Given the description of an element on the screen output the (x, y) to click on. 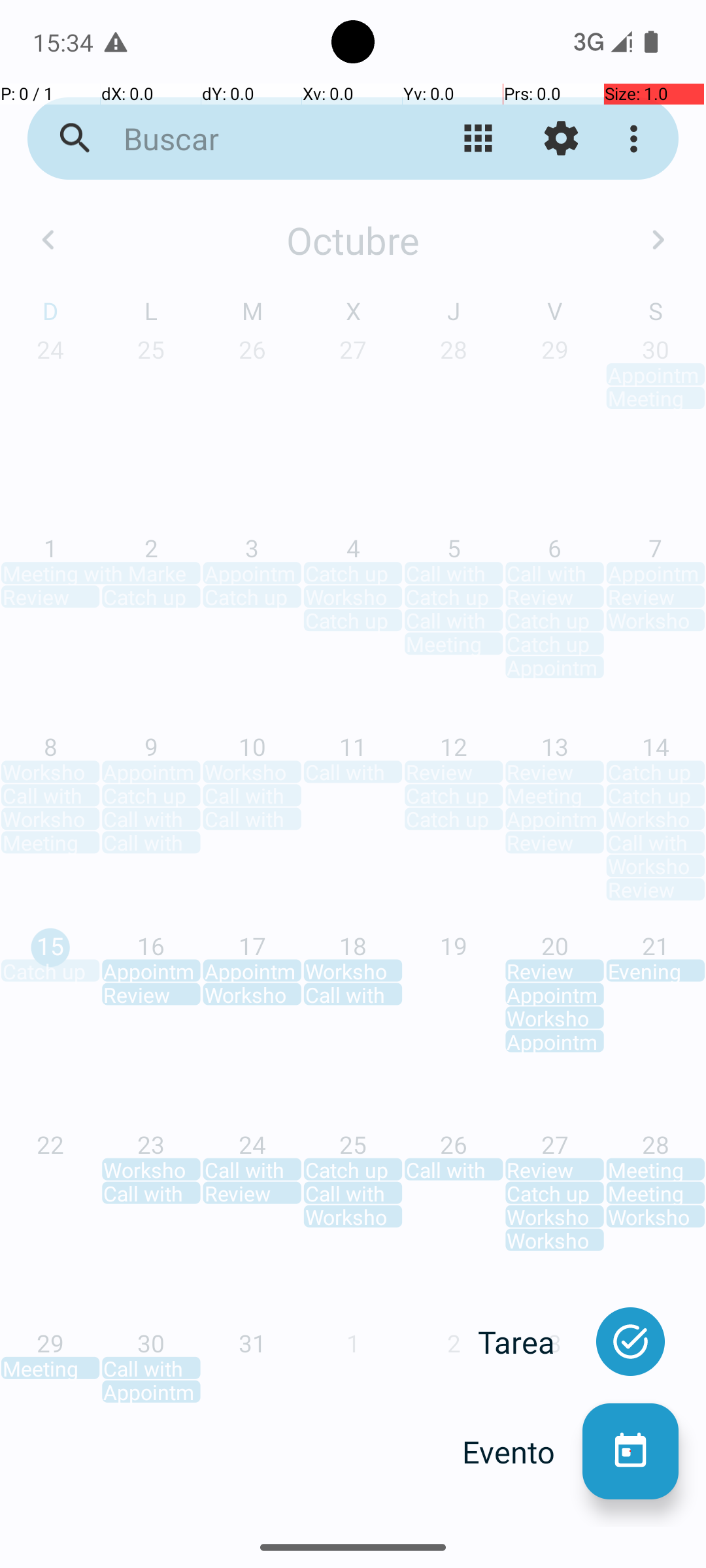
Tarea Element type: android.widget.TextView (529, 1341)
Evento Element type: android.widget.TextView (522, 1451)
